Given the description of an element on the screen output the (x, y) to click on. 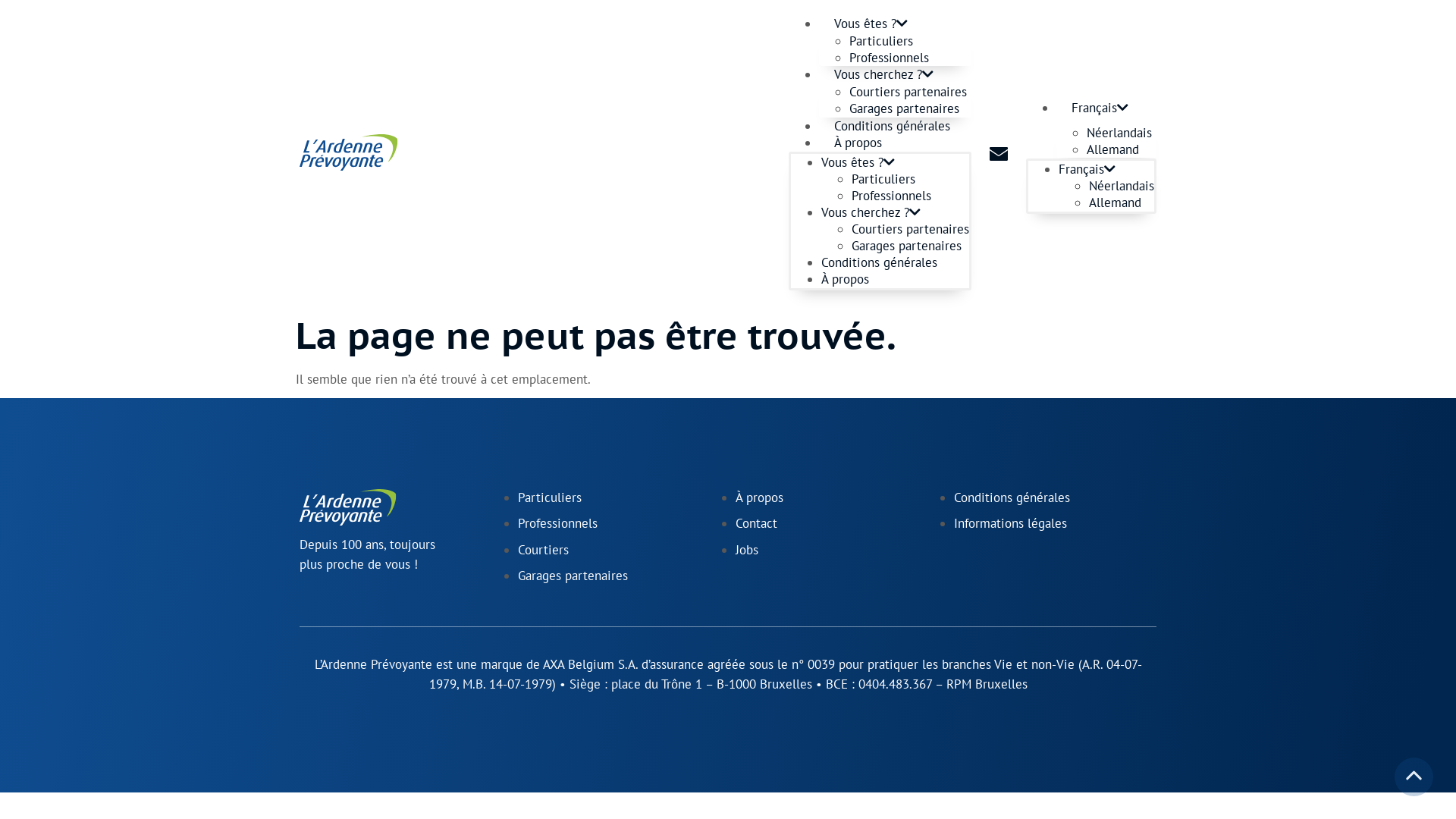
Garages partenaires Element type: text (904, 108)
Professionnels Element type: text (556, 522)
Allemand Element type: text (1121, 149)
Particuliers Element type: text (548, 497)
Particuliers Element type: text (881, 40)
Vous cherchez ? Element type: text (883, 74)
Professionnels Element type: text (891, 195)
Allemand Element type: text (1121, 202)
Professionnels Element type: text (888, 57)
Courtiers partenaires Element type: text (910, 228)
Vous cherchez ? Element type: text (870, 211)
Particuliers Element type: text (883, 178)
Garages partenaires Element type: text (906, 245)
Courtiers Element type: text (542, 549)
Garages partenaires Element type: text (572, 575)
Courtiers partenaires Element type: text (907, 91)
Jobs Element type: text (746, 549)
Contact Element type: text (756, 522)
